Given the description of an element on the screen output the (x, y) to click on. 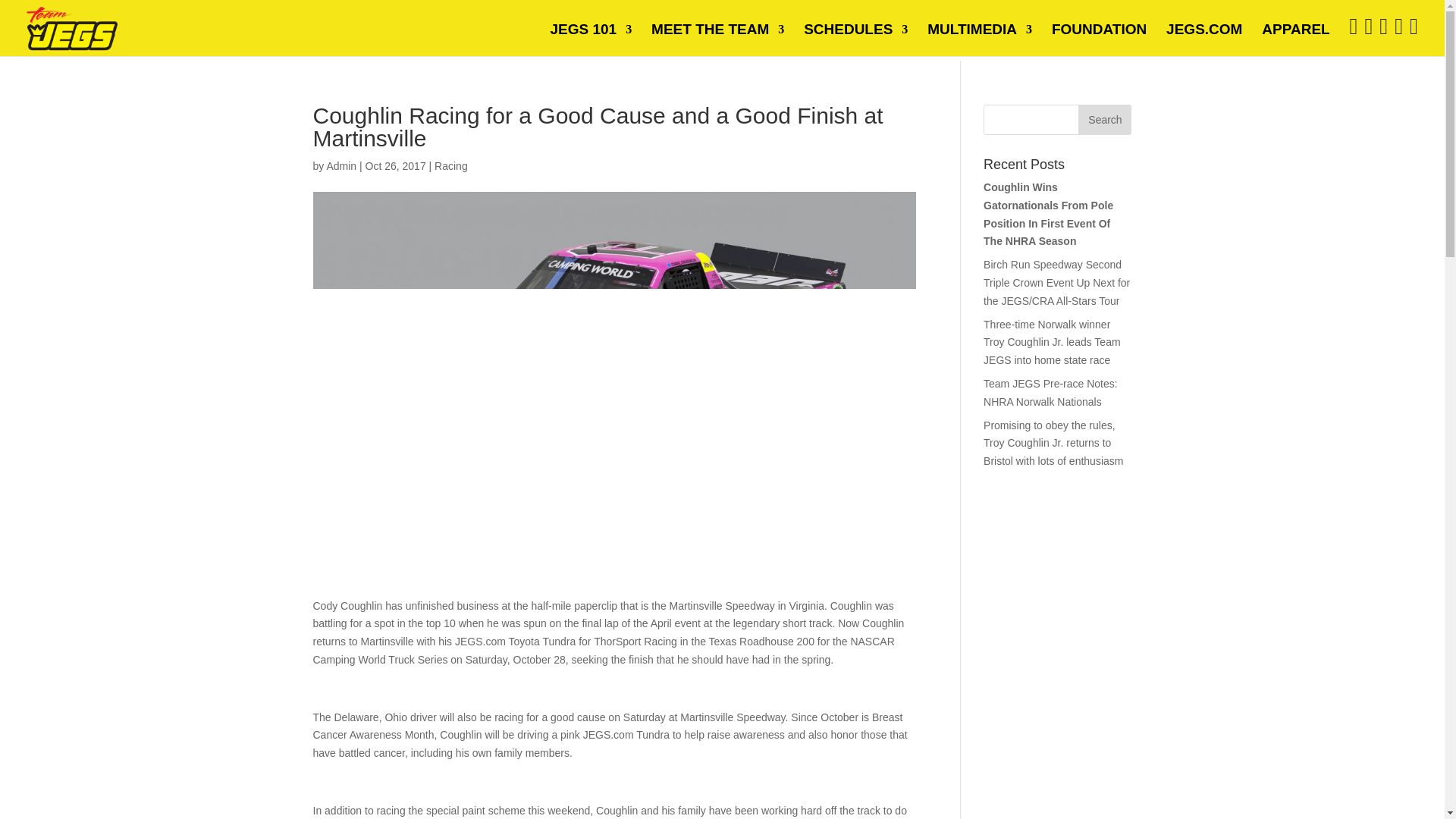
JEGS 101 (590, 40)
MULTIMEDIA (979, 40)
Posts by Admin (341, 165)
MEET THE TEAM (717, 40)
Search (1104, 119)
SCHEDULES (855, 40)
